Given the description of an element on the screen output the (x, y) to click on. 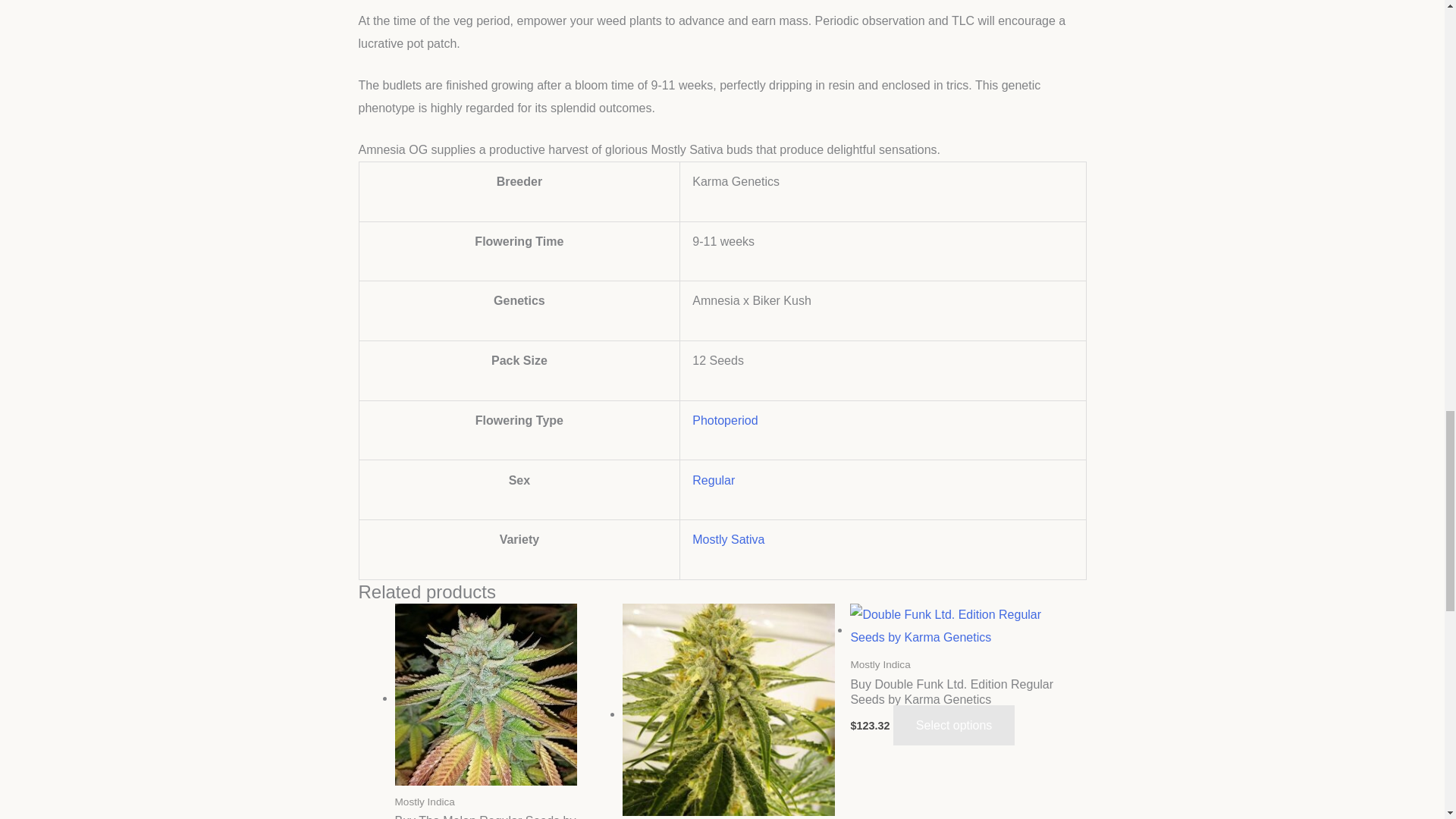
Mostly Sativa (728, 539)
Buy Tha Melon Regular Seeds by Karma Genetics (500, 816)
Regular (714, 479)
Photoperiod (725, 420)
